Given the description of an element on the screen output the (x, y) to click on. 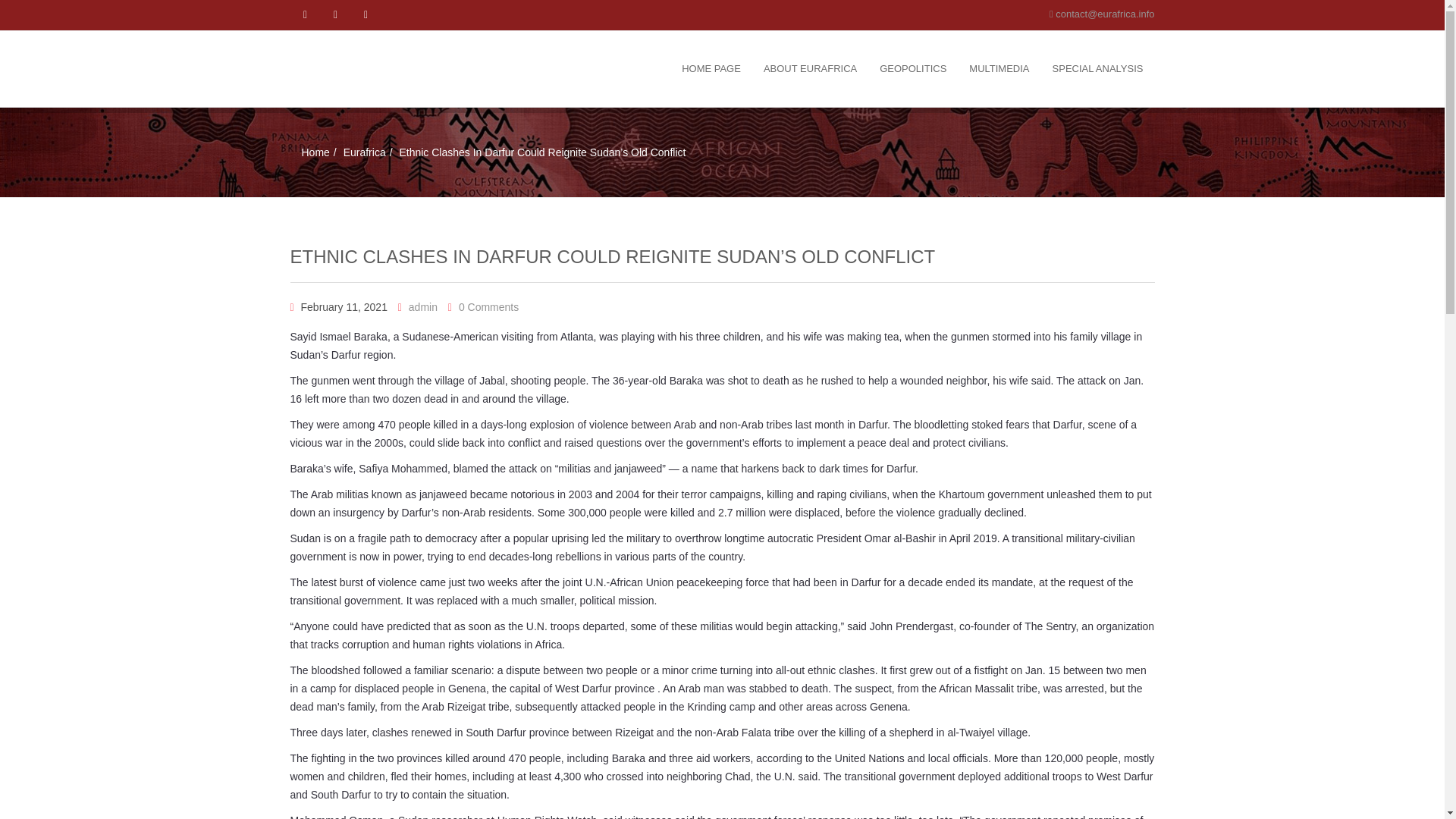
Home (315, 152)
Home Page (710, 69)
admin (423, 306)
ABOUT EURAFRICA (809, 69)
HOME PAGE (710, 69)
Eurafrica (364, 152)
Multimedia (999, 69)
Home (315, 152)
SPECIAL ANALYSIS (1097, 69)
MULTIMEDIA (999, 69)
0 Comments (488, 306)
Geopolitics (912, 69)
About Eurafrica (809, 69)
GEOPOLITICS (912, 69)
Special Analysis (1097, 69)
